Given the description of an element on the screen output the (x, y) to click on. 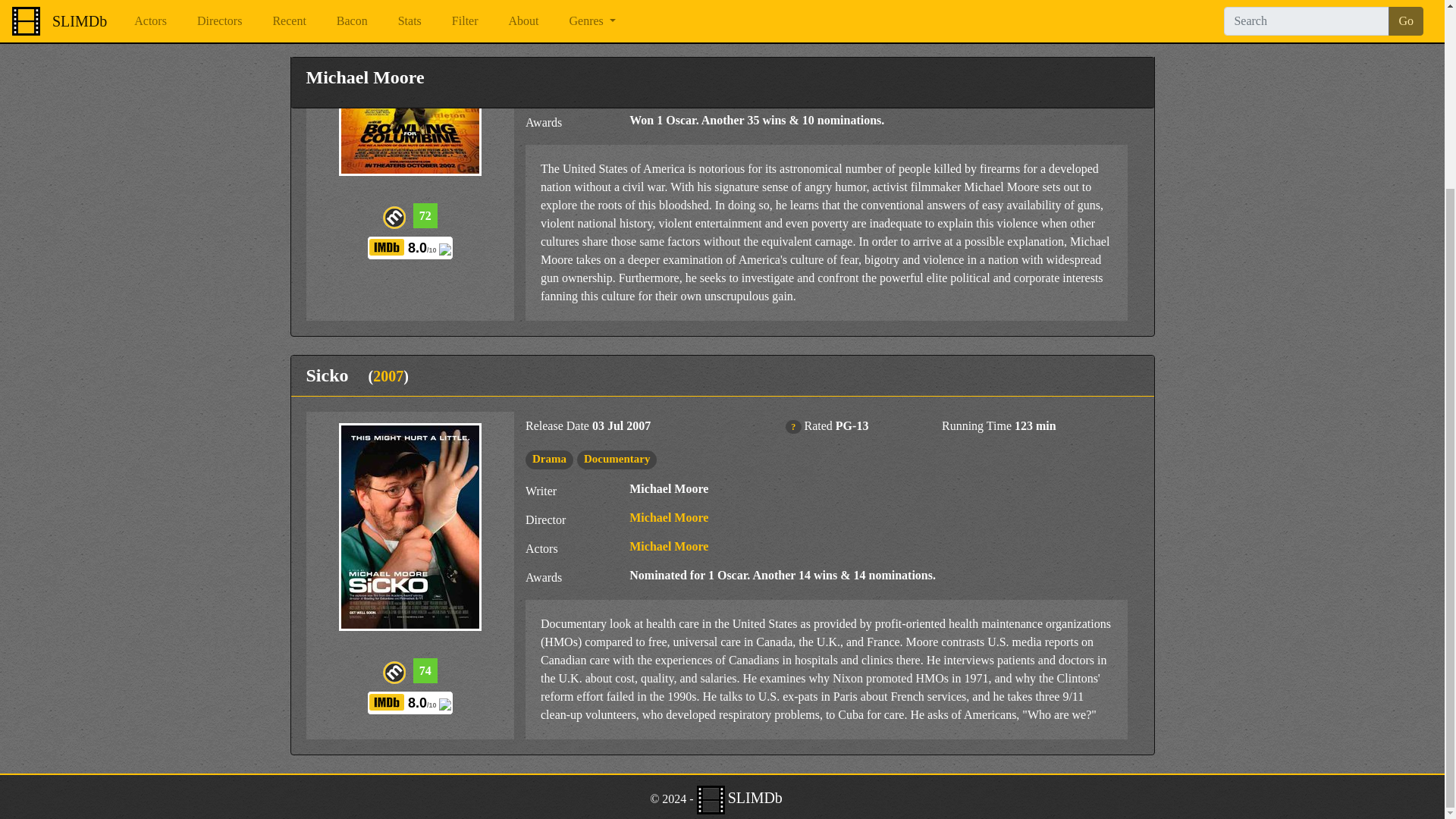
Michael Moore (667, 62)
Ratings Help (792, 426)
Crime (598, 4)
Drama (549, 4)
Documentary (664, 4)
